Given the description of an element on the screen output the (x, y) to click on. 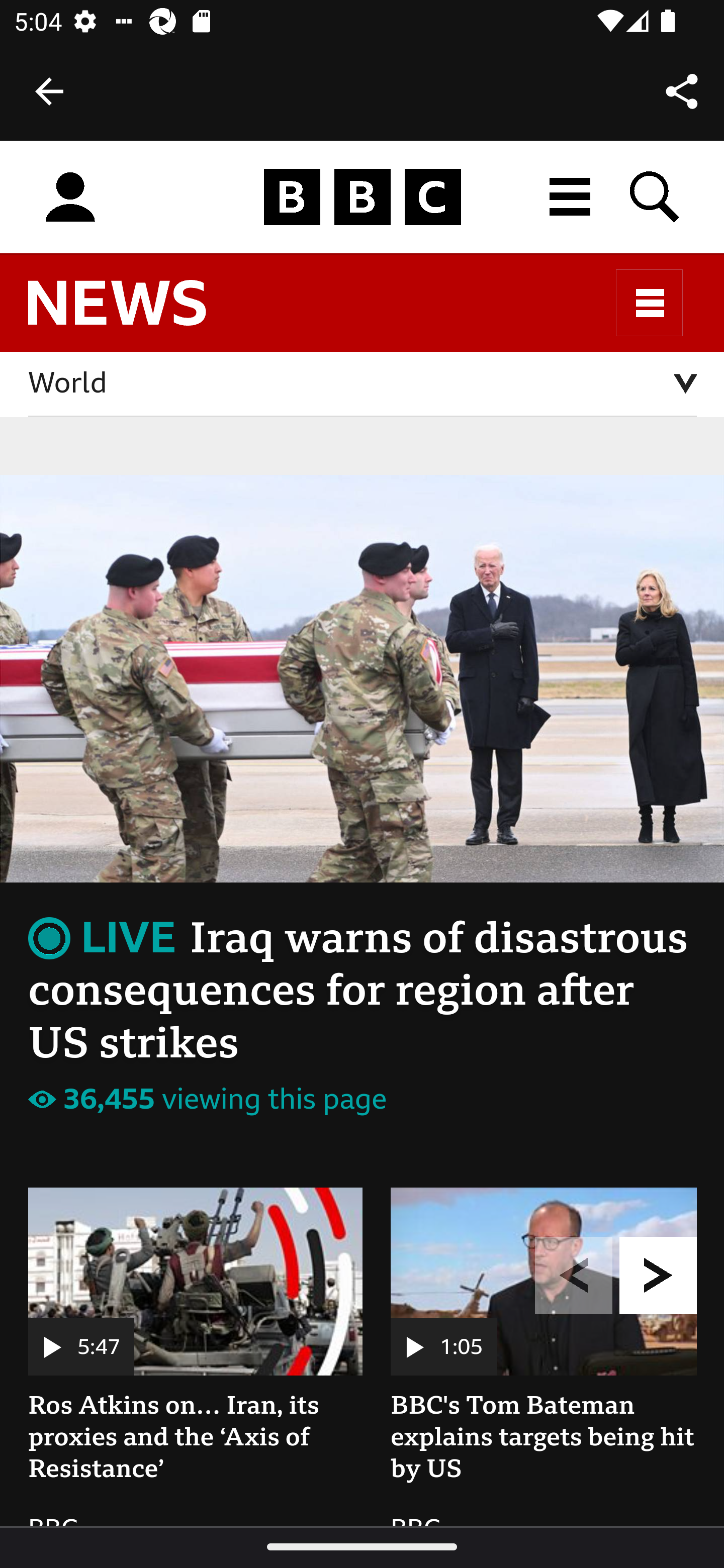
Back (49, 91)
Share (681, 90)
All BBC destinations menu (570, 197)
Search BBC (655, 197)
Sign in (70, 198)
Homepage (361, 198)
Sections (650, 302)
BBC News (133, 310)
World (363, 384)
previous (574, 1218)
next (658, 1218)
